Given the description of an element on the screen output the (x, y) to click on. 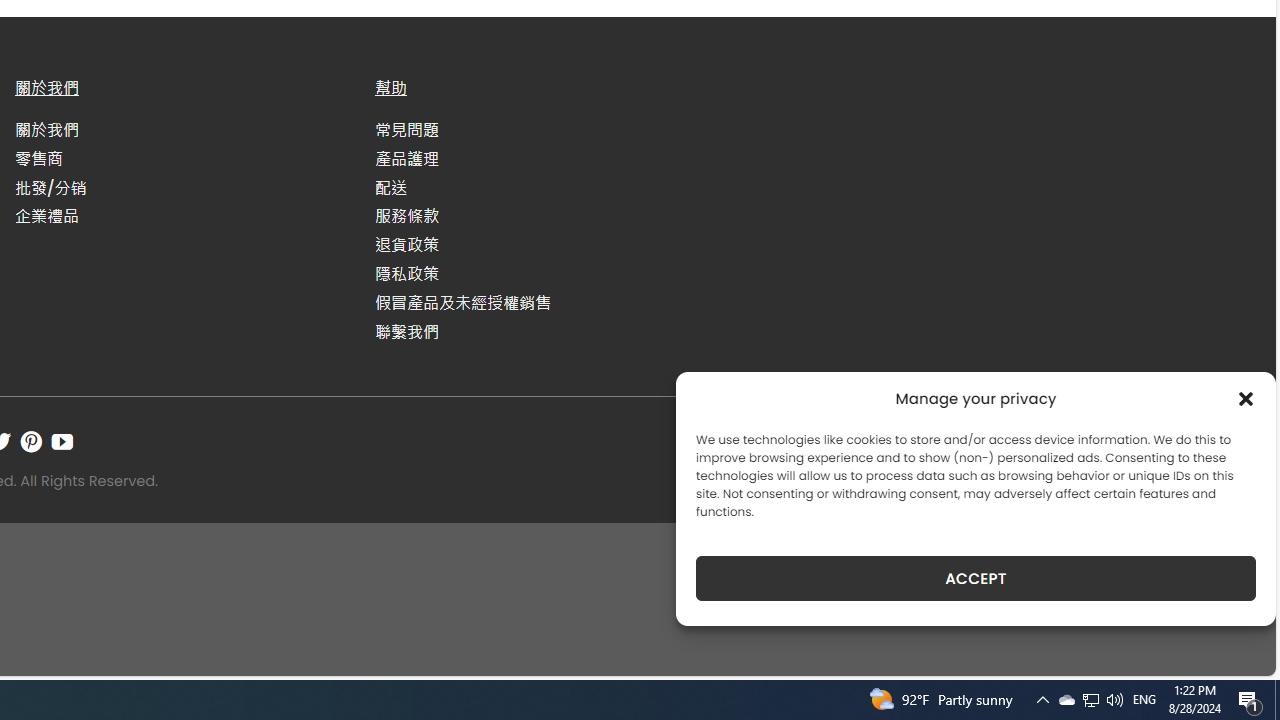
Class: cmplz-close (1245, 398)
Go to top (1234, 647)
ACCEPT (975, 578)
Follow on YouTube (61, 441)
Follow on Pinterest (31, 441)
